Given the description of an element on the screen output the (x, y) to click on. 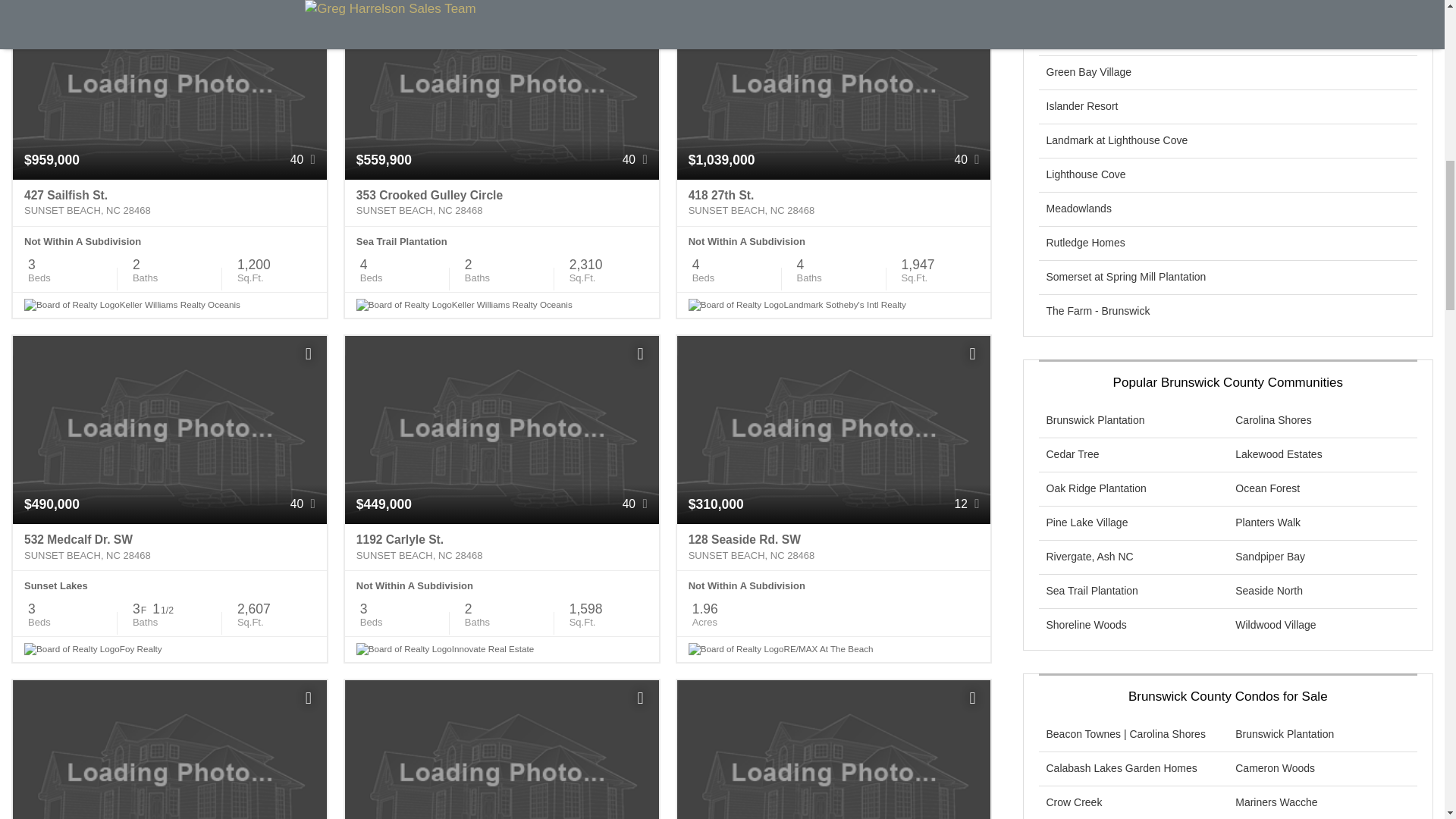
427 Sailfish St. Sunset Beach,  NC 28468 (169, 202)
418 27th St. Sunset Beach,  NC 28468 (834, 202)
532 Medcalf Dr. SW Sunset Beach,  NC 28468 (169, 547)
353 Crooked Gulley Circle Sunset Beach,  NC 28468 (502, 202)
1192 Carlyle St. Sunset Beach,  NC 28468 (502, 547)
